Given the description of an element on the screen output the (x, y) to click on. 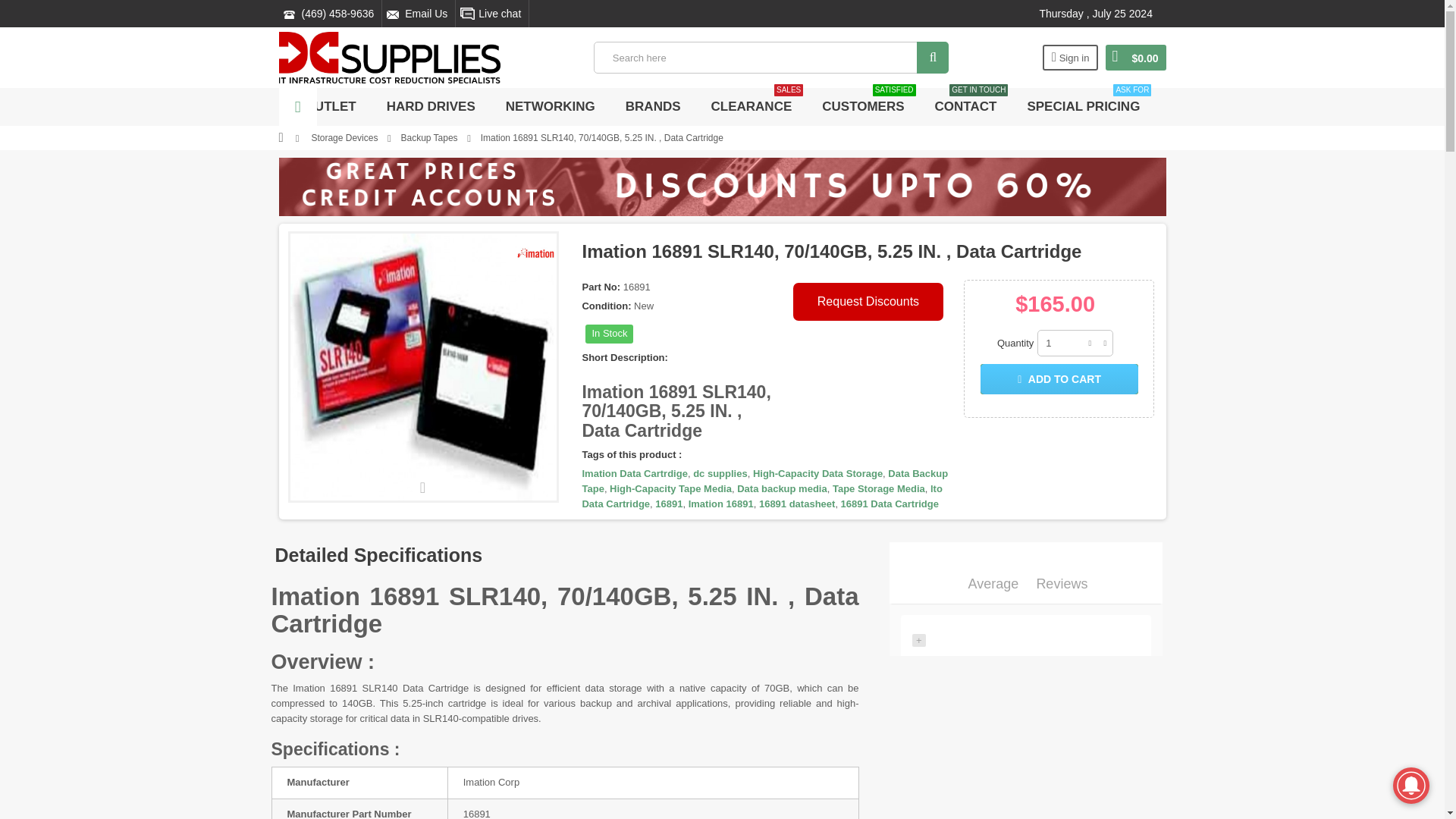
Log in to your customer account (1070, 57)
View my shopping cart (1135, 57)
1 (1074, 343)
